Given the description of an element on the screen output the (x, y) to click on. 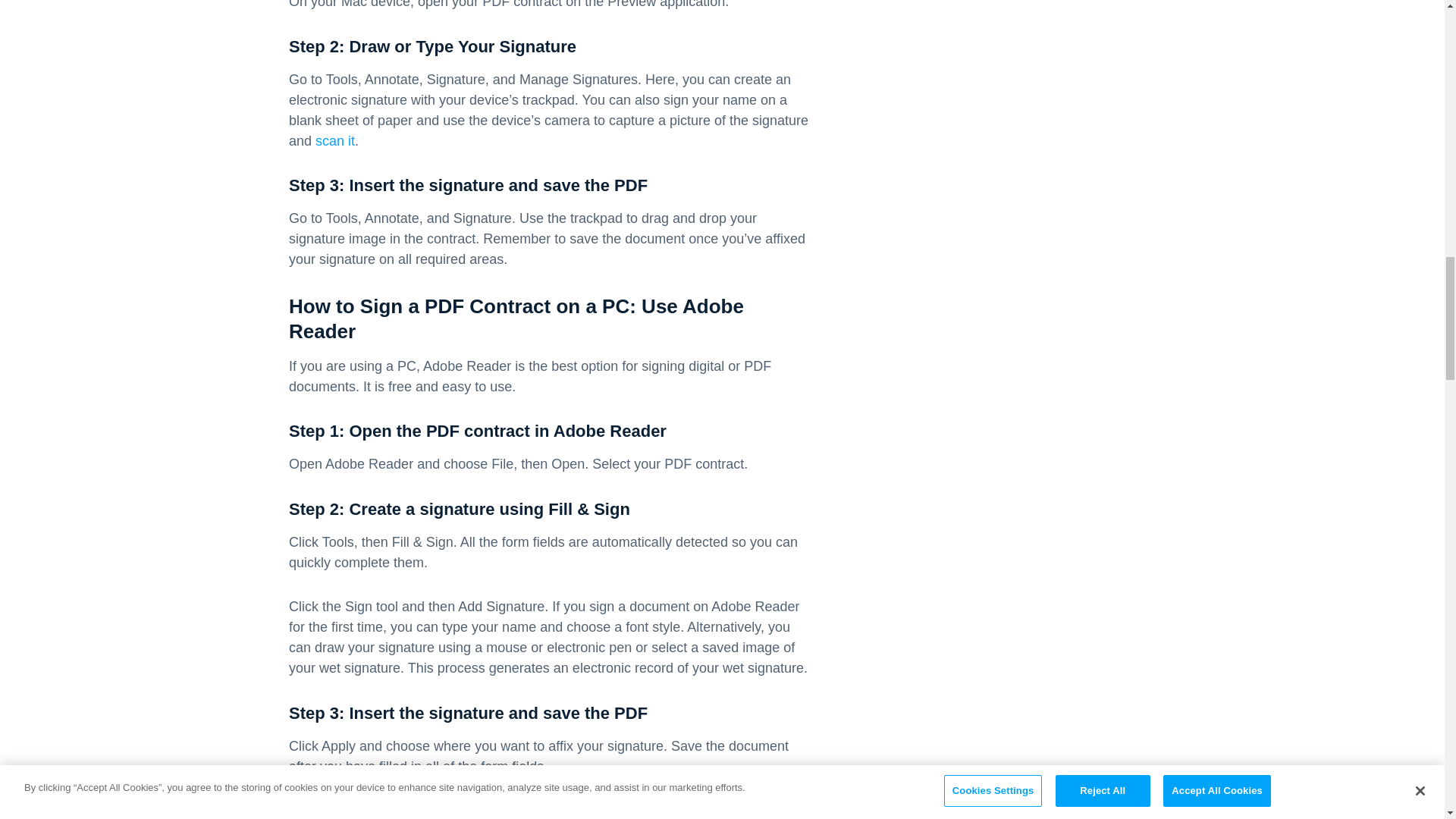
scan it (335, 140)
